Given the description of an element on the screen output the (x, y) to click on. 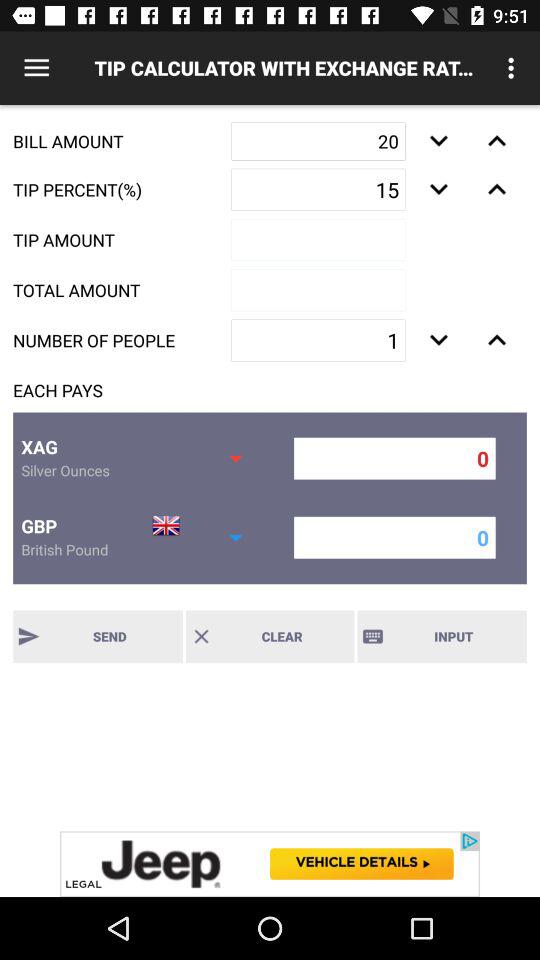
go next (496, 141)
